Given the description of an element on the screen output the (x, y) to click on. 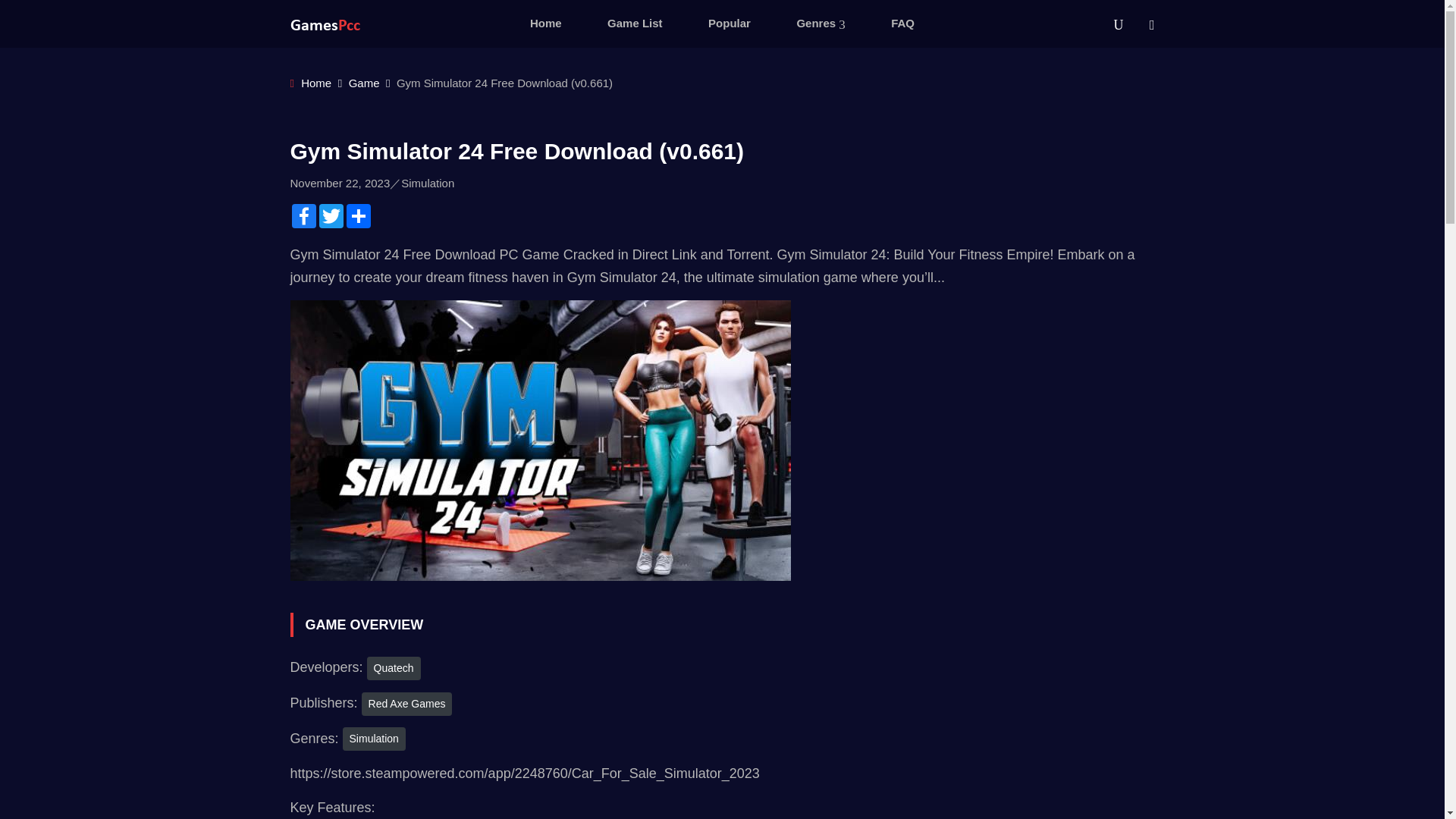
Twitter (330, 215)
Red Axe Games (406, 702)
Game (364, 82)
Home (310, 82)
Game List (635, 23)
Home (545, 23)
Facebook (303, 215)
FAQ (903, 23)
Popular (729, 23)
Genres (820, 23)
Share (357, 215)
Quatech (393, 668)
